Given the description of an element on the screen output the (x, y) to click on. 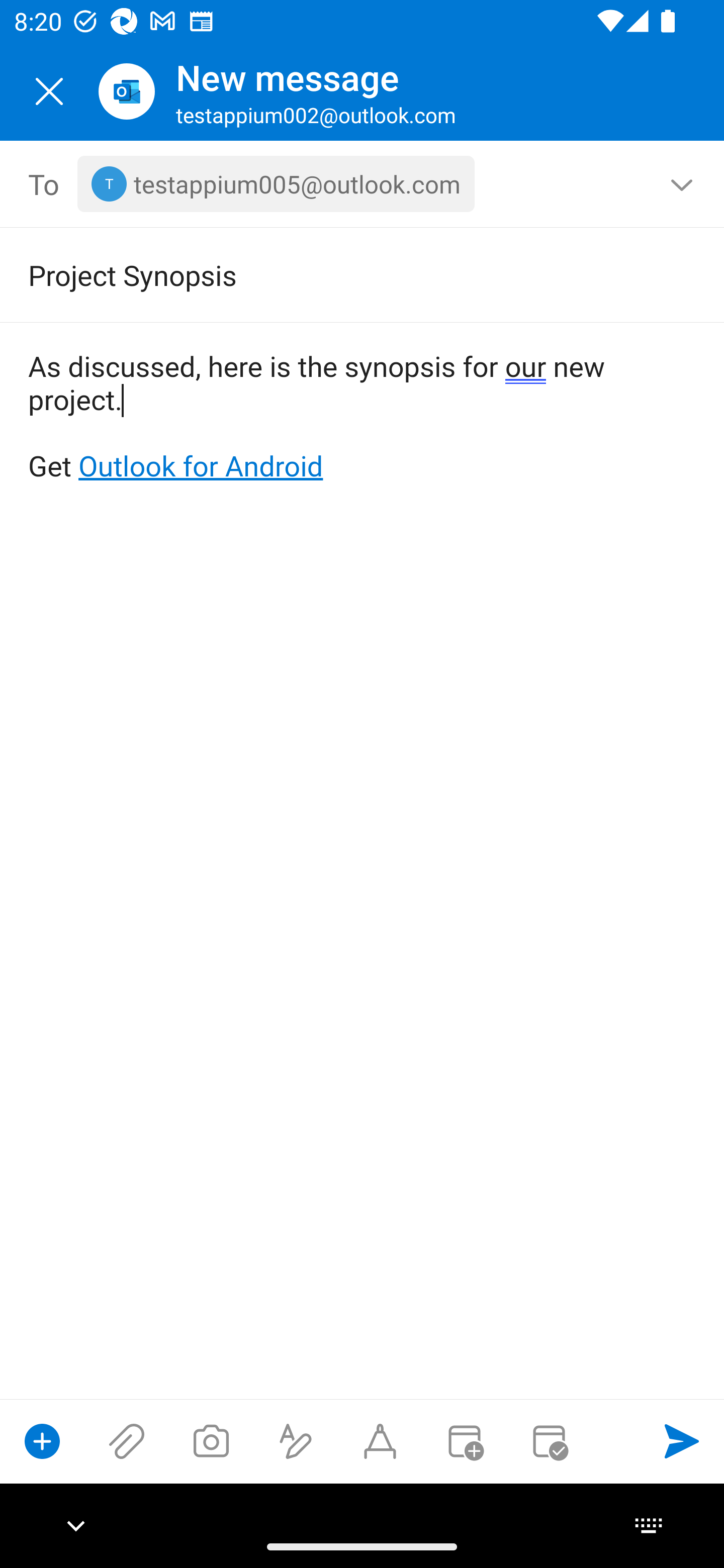
Close (49, 91)
Project Synopsis (333, 274)
Show compose options (42, 1440)
Attach files (126, 1440)
Take a photo (210, 1440)
Show formatting options (295, 1440)
Start Ink compose (380, 1440)
Convert to event (464, 1440)
Send availability (548, 1440)
Send (681, 1440)
